Given the description of an element on the screen output the (x, y) to click on. 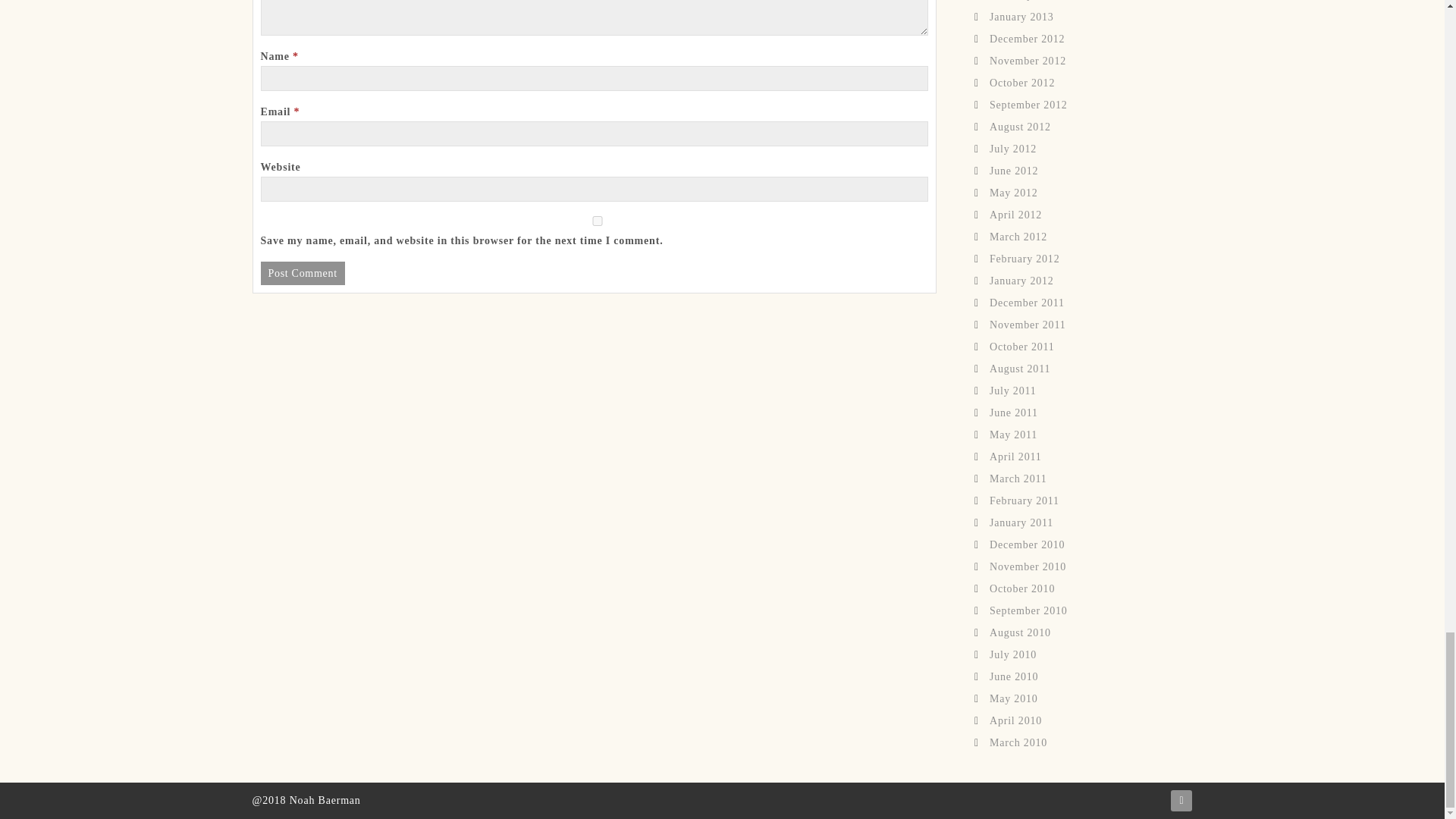
yes (597, 221)
Post Comment (302, 273)
